Given the description of an element on the screen output the (x, y) to click on. 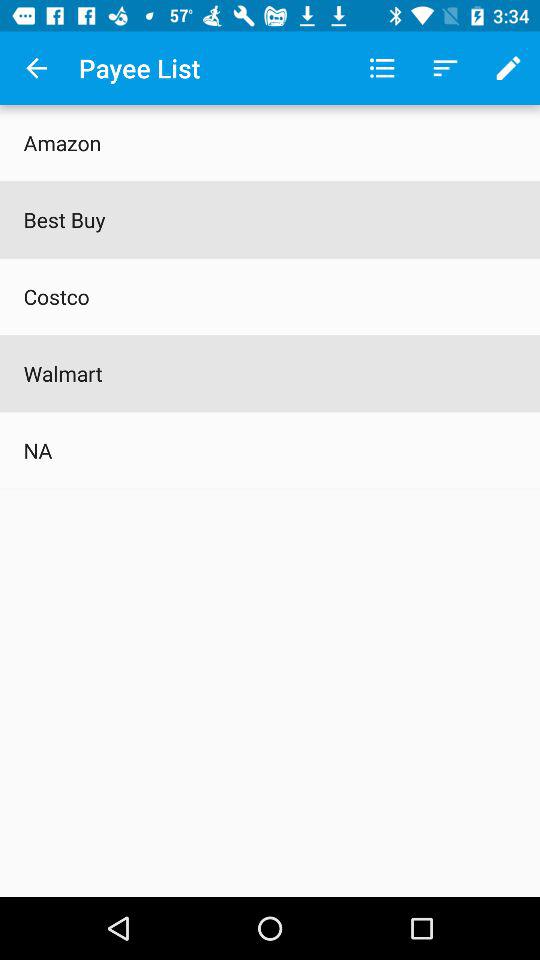
click the app next to payee list (36, 68)
